Given the description of an element on the screen output the (x, y) to click on. 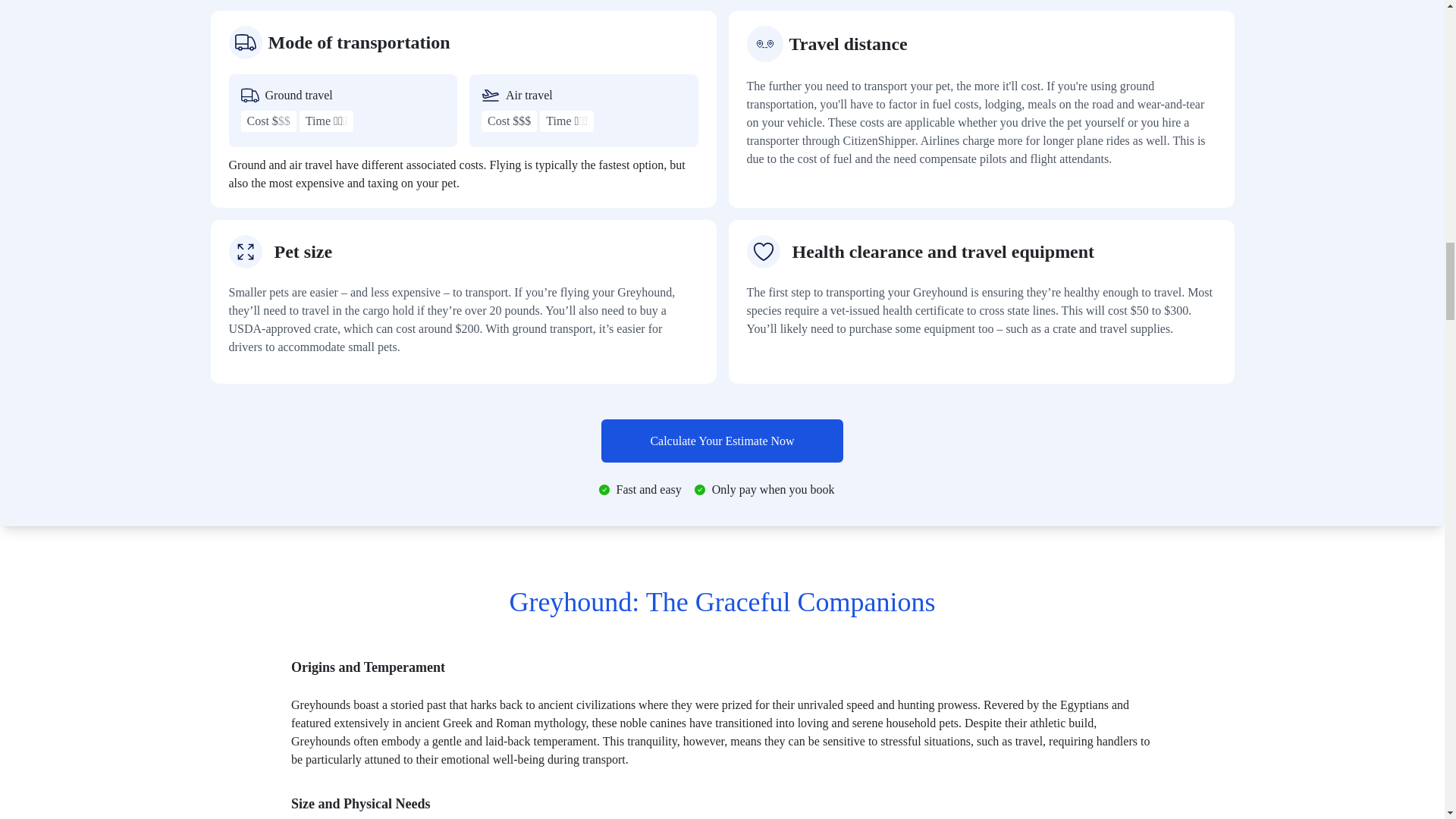
Calculate Your Estimate Now (722, 440)
